Given the description of an element on the screen output the (x, y) to click on. 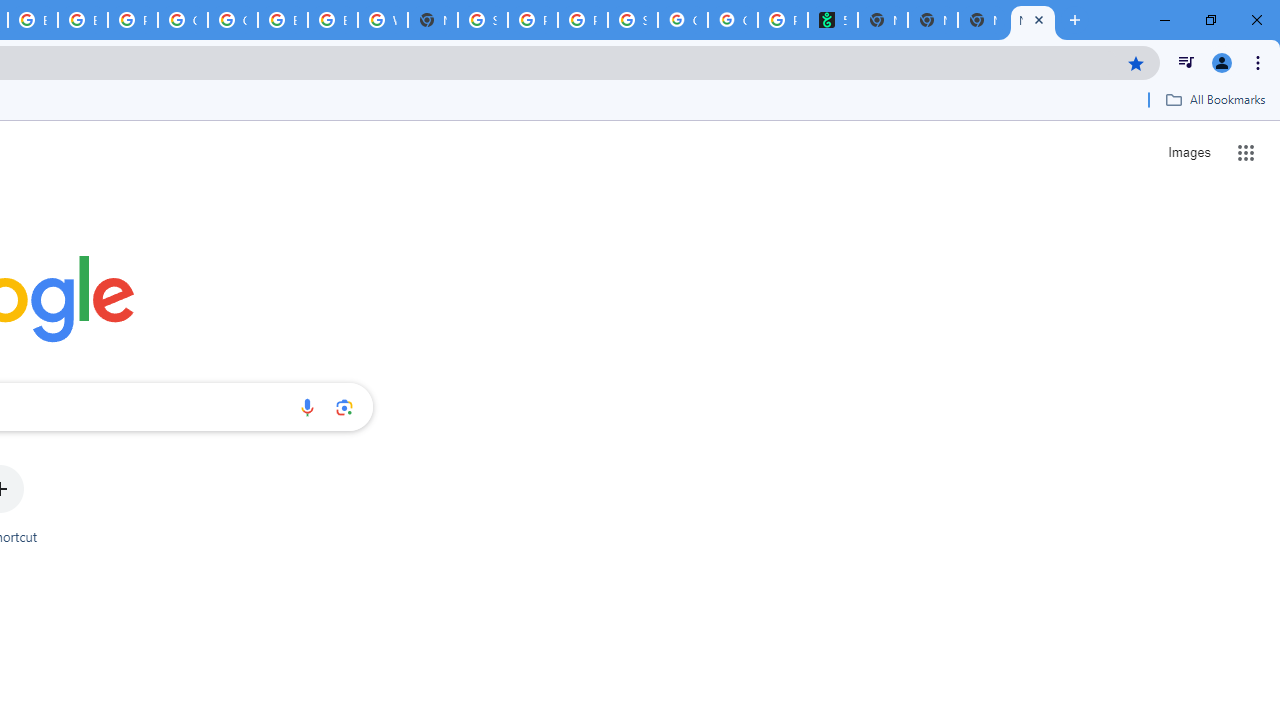
Google Cloud Platform (182, 20)
New Tab (433, 20)
